Given the description of an element on the screen output the (x, y) to click on. 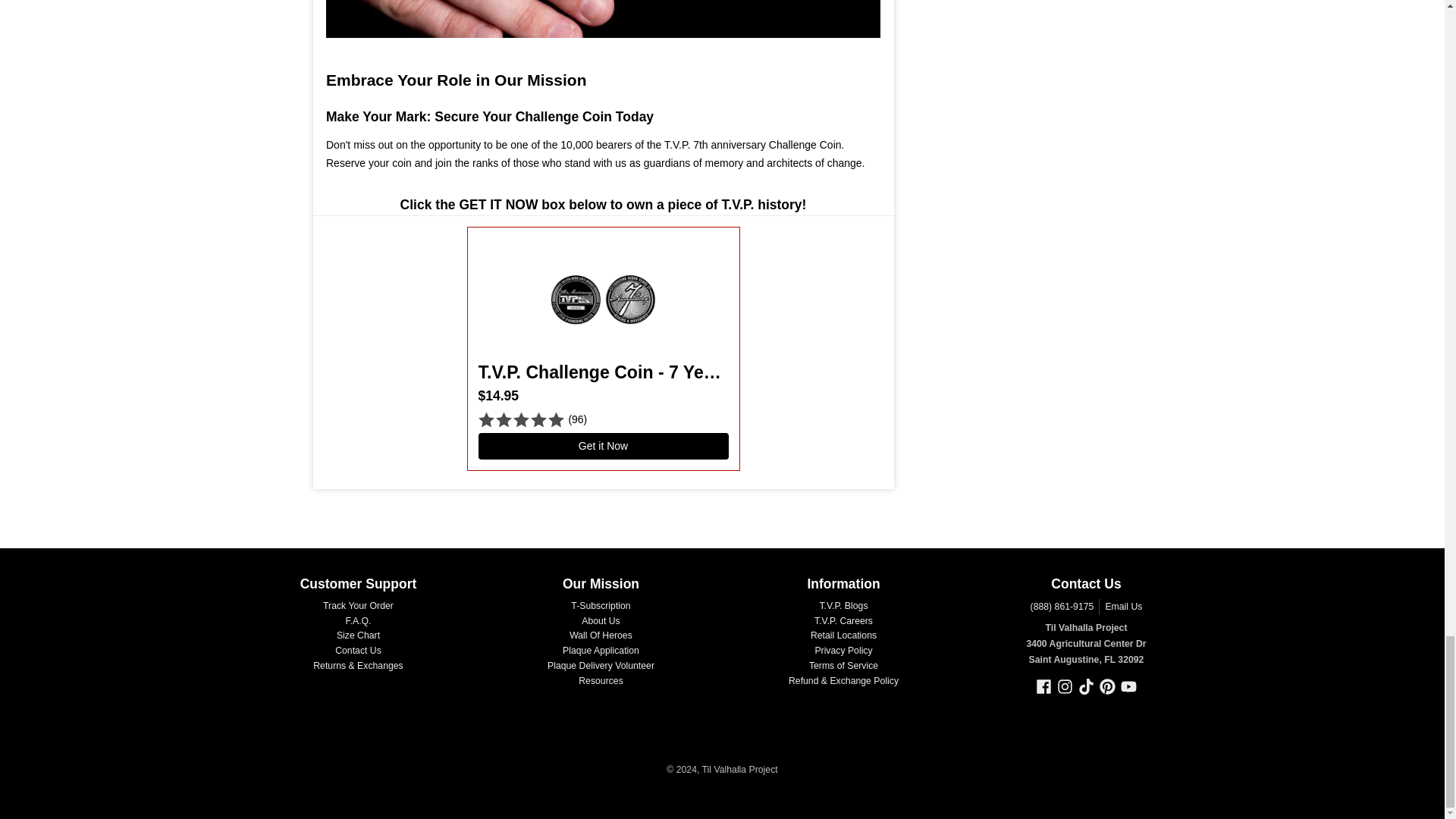
Instagram - Til Valhalla Project (1065, 686)
Pinterest - Til Valhalla Project (1107, 686)
Facebook - Til Valhalla Project (1043, 686)
TikTok - Til Valhalla Project (1086, 686)
YouTube - Til Valhalla Project (1129, 686)
7th Anniversary Challenge Coin (603, 18)
